Given the description of an element on the screen output the (x, y) to click on. 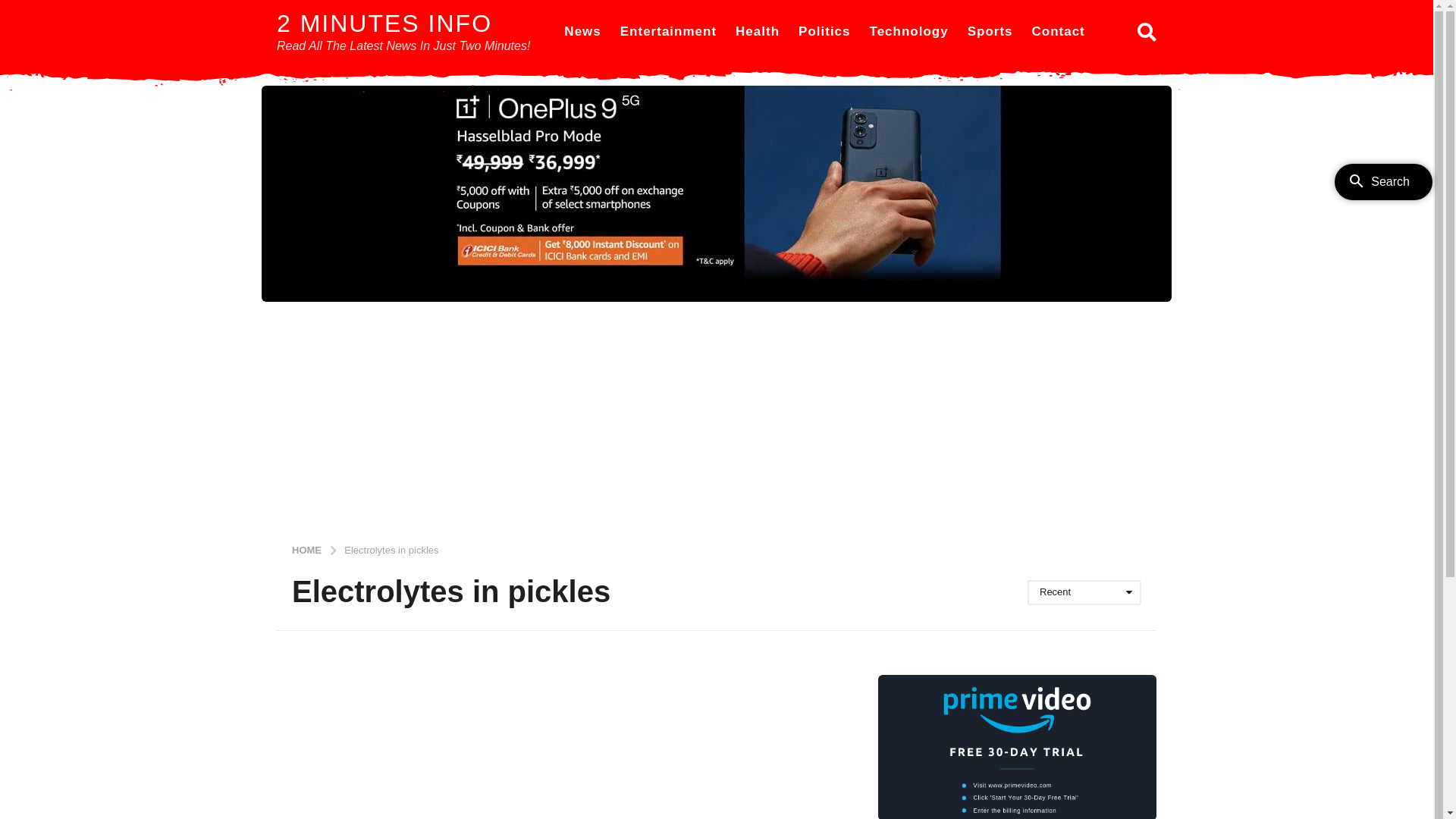
2 MINUTES INFO Element type: text (384, 23)
Contact Element type: text (1057, 31)
Advertisement Element type: hover (716, 415)
HOME Element type: text (307, 549)
Electrolytes in pickles Element type: text (391, 549)
Technology Element type: text (908, 31)
Health Element type: text (757, 31)
Entertainment Element type: text (668, 31)
Politics Element type: text (824, 31)
Sports Element type: text (990, 31)
News Element type: text (582, 31)
